Given the description of an element on the screen output the (x, y) to click on. 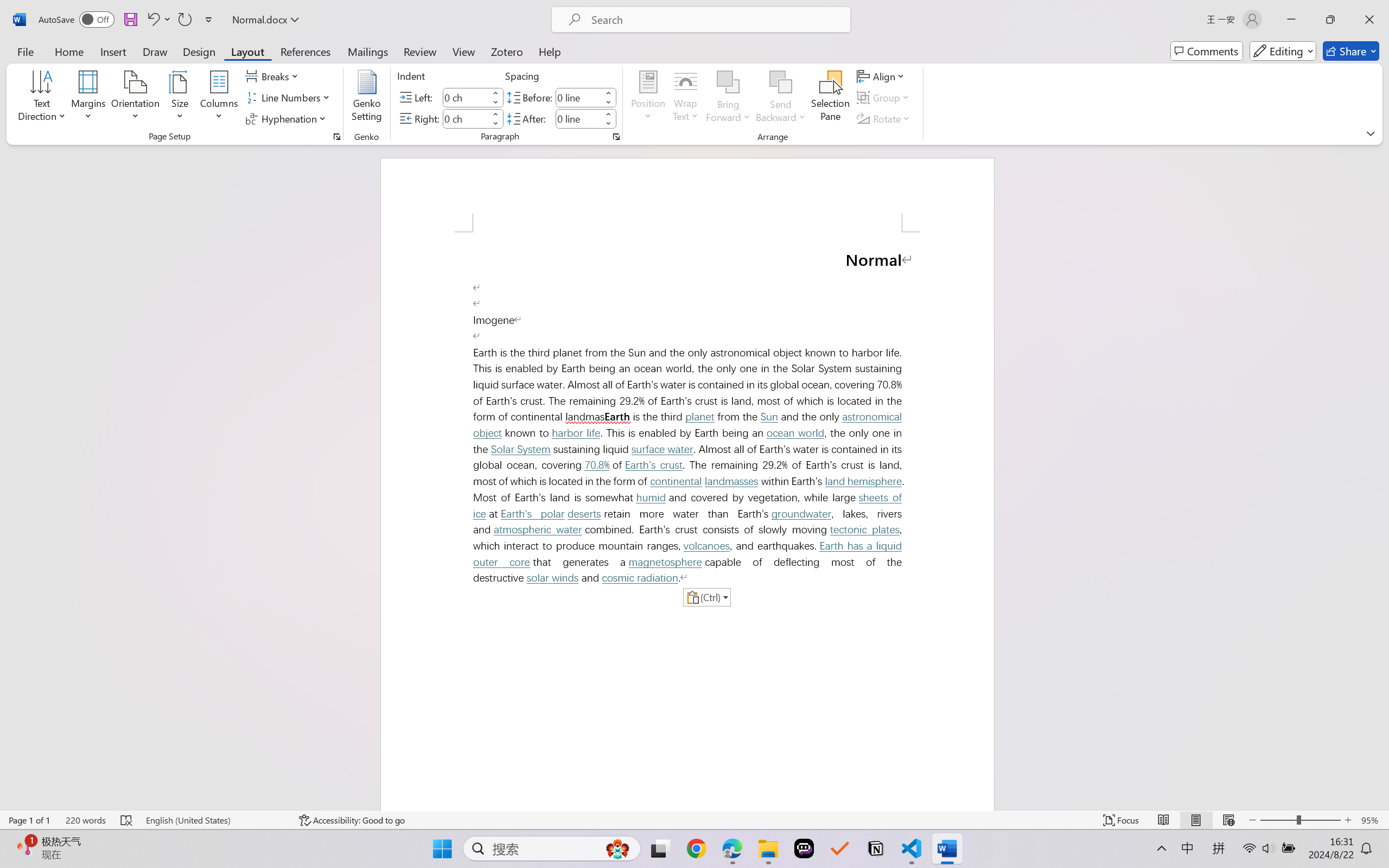
Page Setup... (336, 136)
volcanoes (706, 546)
Margins (88, 97)
astronomical object (690, 424)
Earth has a liquid outer core (690, 554)
continental (675, 480)
Spelling and Grammar Check Errors (126, 819)
landmasses (731, 480)
